Given the description of an element on the screen output the (x, y) to click on. 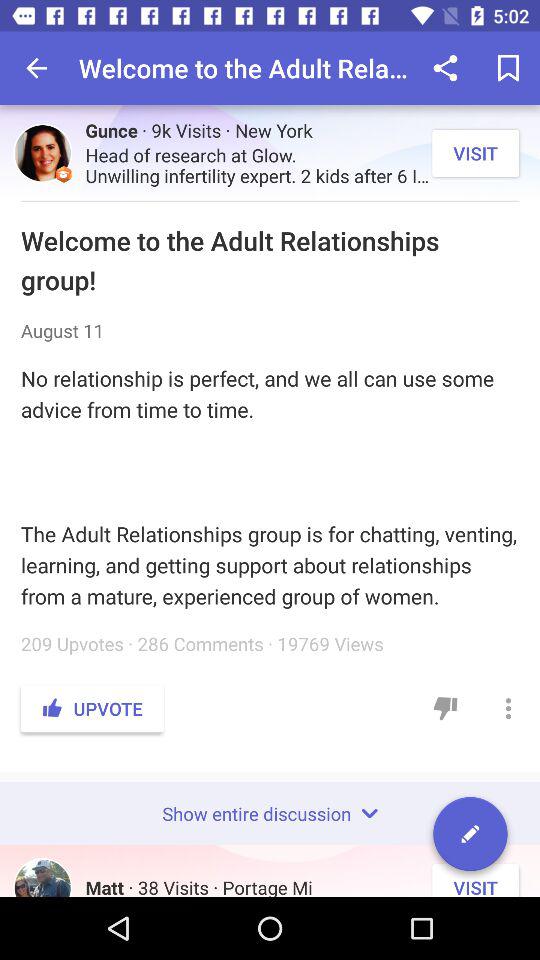
click on the image on the top left (41, 153)
